Given the description of an element on the screen output the (x, y) to click on. 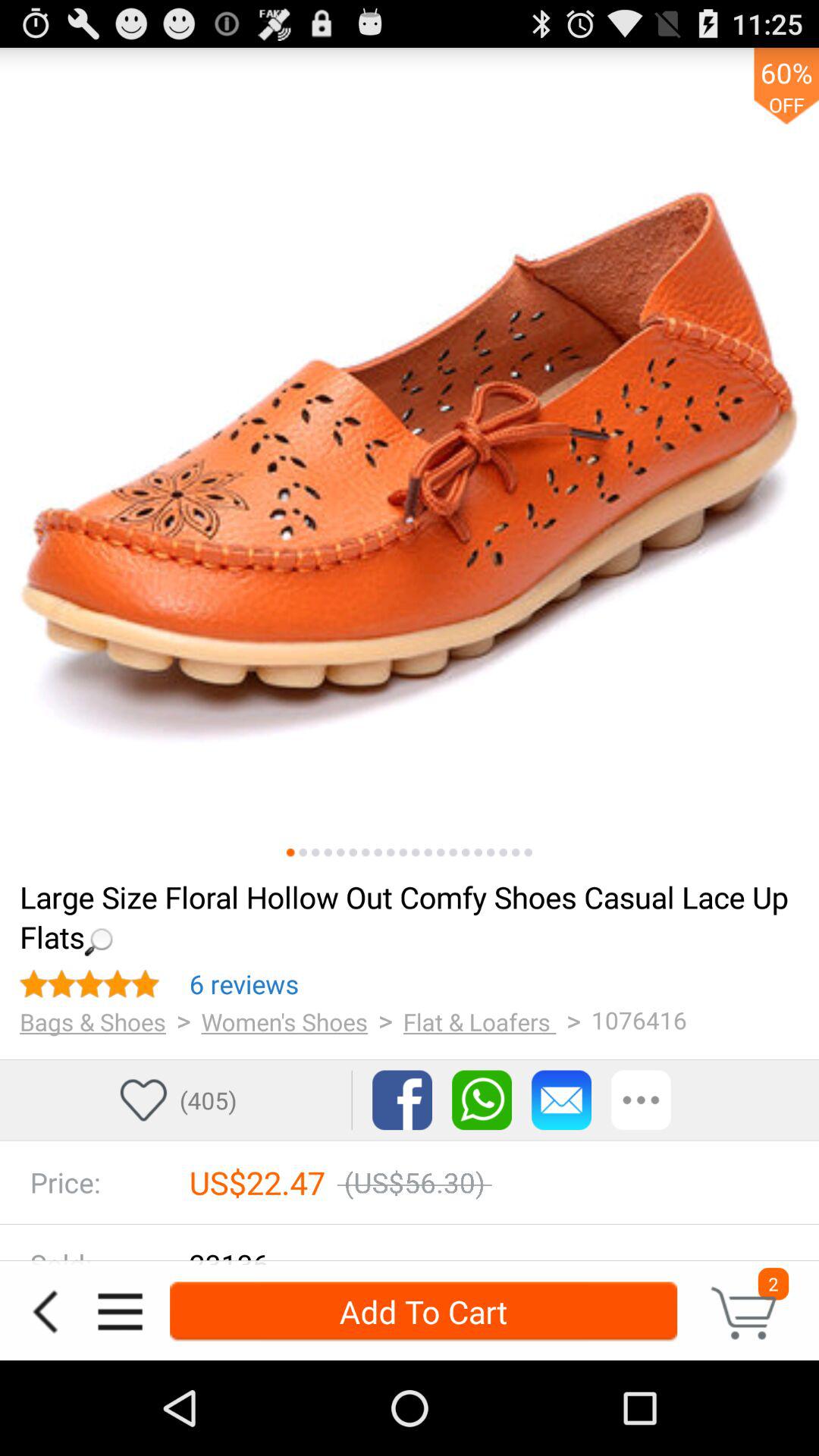
choose item above loading... (515, 852)
